Given the description of an element on the screen output the (x, y) to click on. 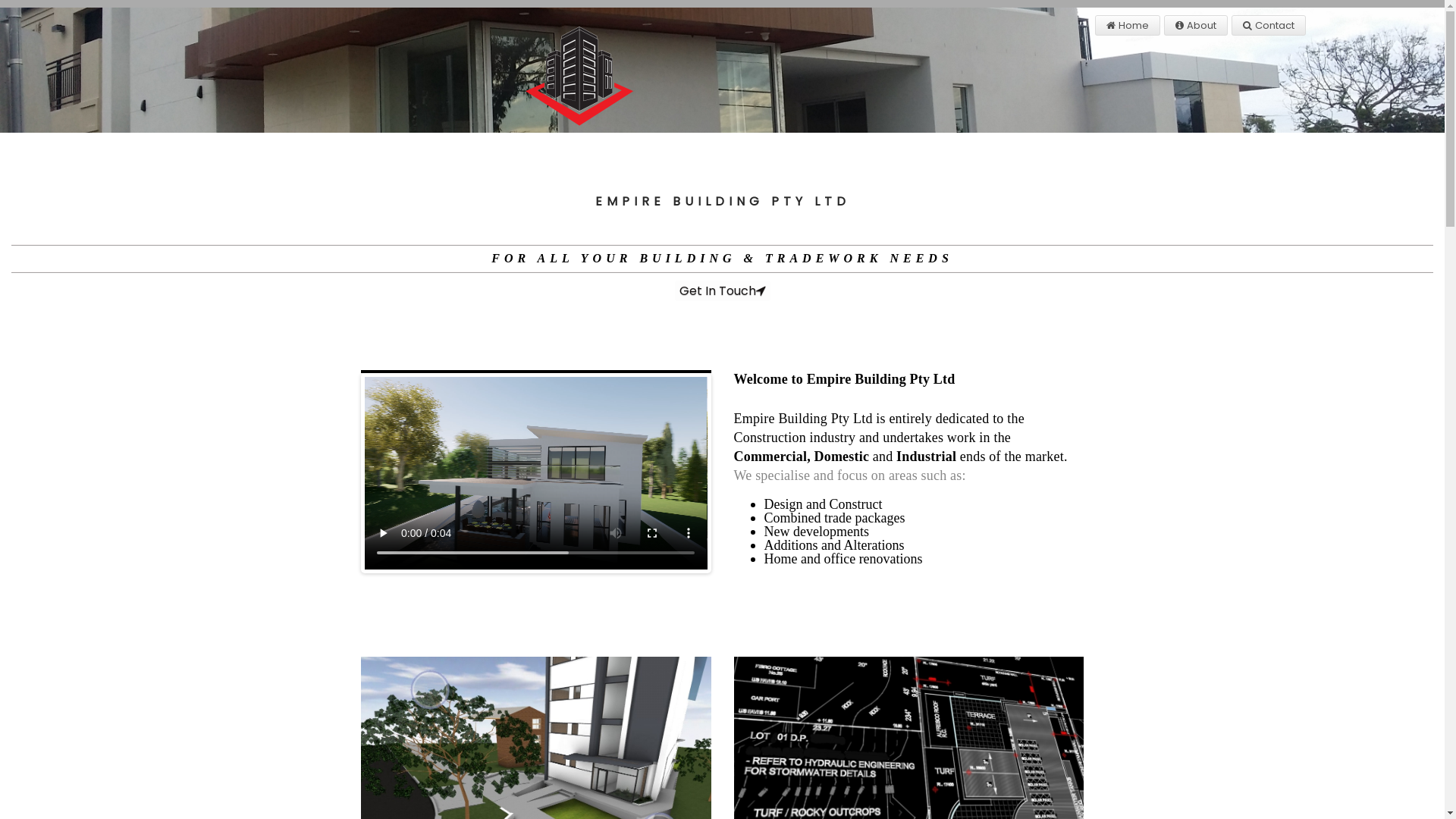
EPB_Logo for Web-04 Element type: hover (541, 69)
Home Element type: text (1127, 25)
Get In Touch Element type: text (722, 290)
About Element type: text (1195, 25)
Contact Element type: text (1268, 25)
